Given the description of an element on the screen output the (x, y) to click on. 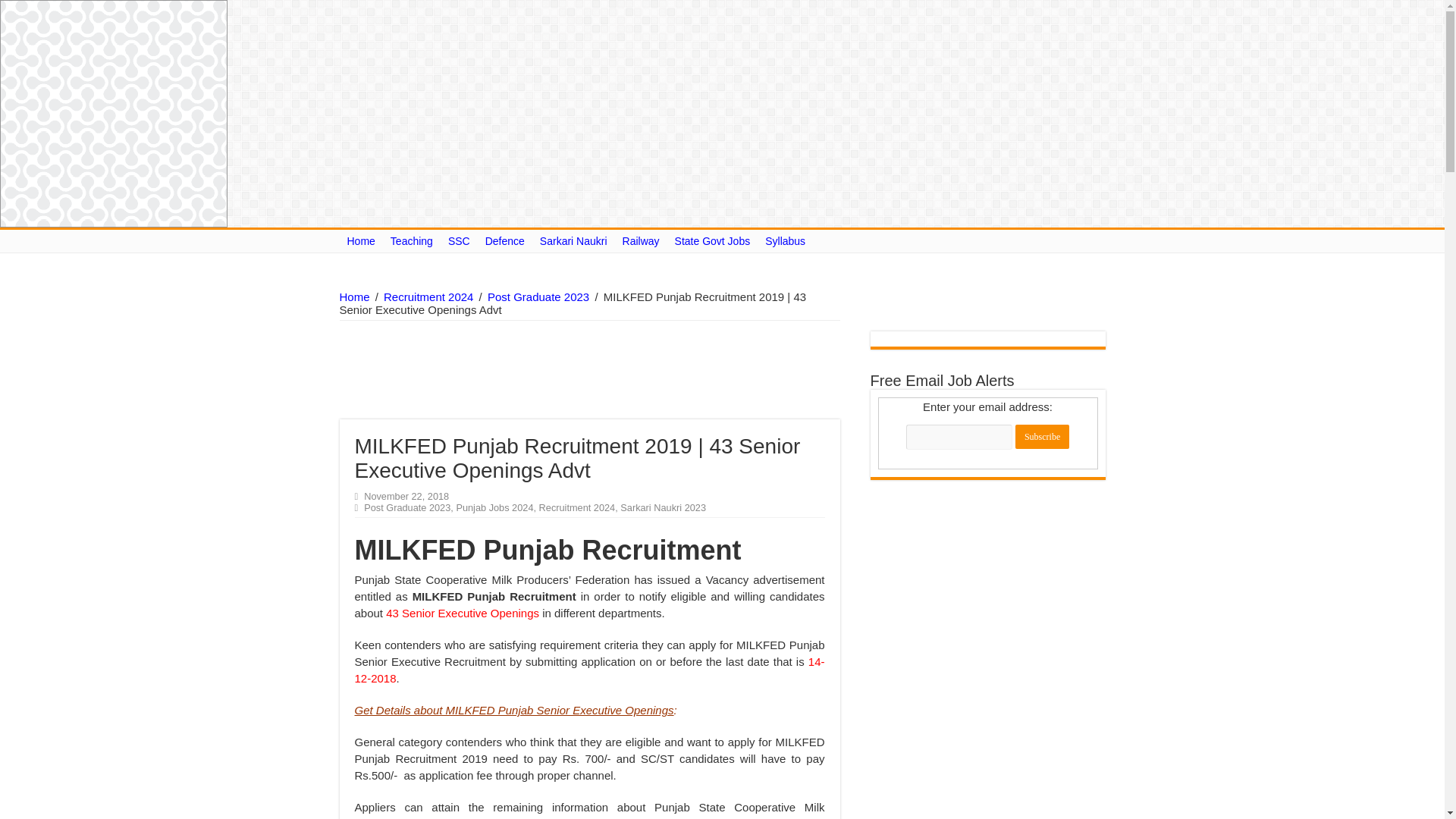
Defence (504, 241)
Post Graduate 2023 (406, 507)
State Govt Jobs (712, 241)
Recruitment 2024 (576, 507)
Punjab Jobs 2024 (493, 507)
Home (360, 241)
Post Graduate 2023 (538, 296)
Syllabus (784, 241)
Teaching (411, 241)
Home Page (360, 241)
Sarkari Naukri (573, 241)
Sarkari Naukri 2023 (663, 507)
Subscribe (1041, 436)
Home (354, 296)
Recruitment 2024 (428, 296)
